Given the description of an element on the screen output the (x, y) to click on. 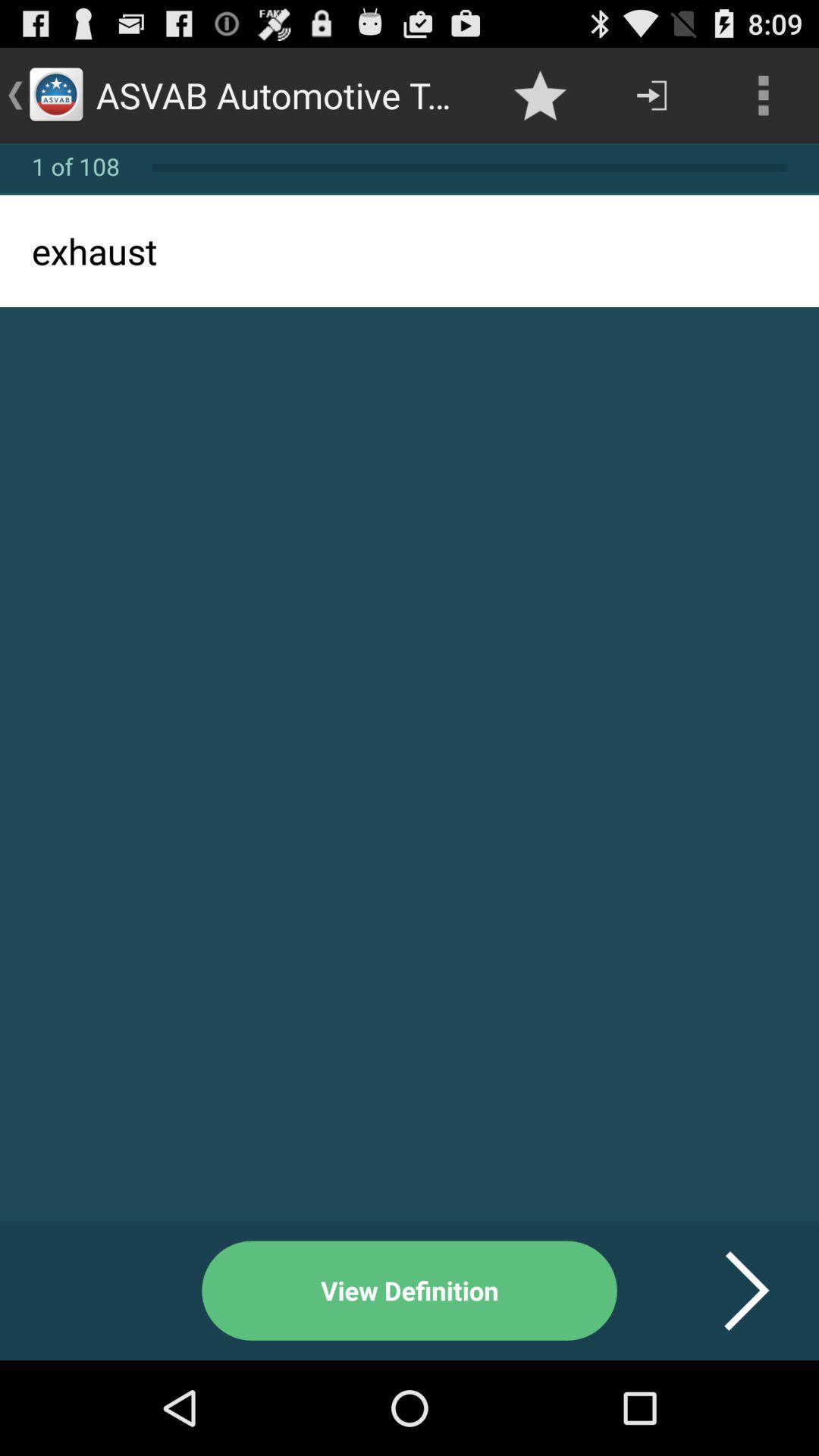
click item to the right of the asvab automotive terminologies icon (540, 95)
